Given the description of an element on the screen output the (x, y) to click on. 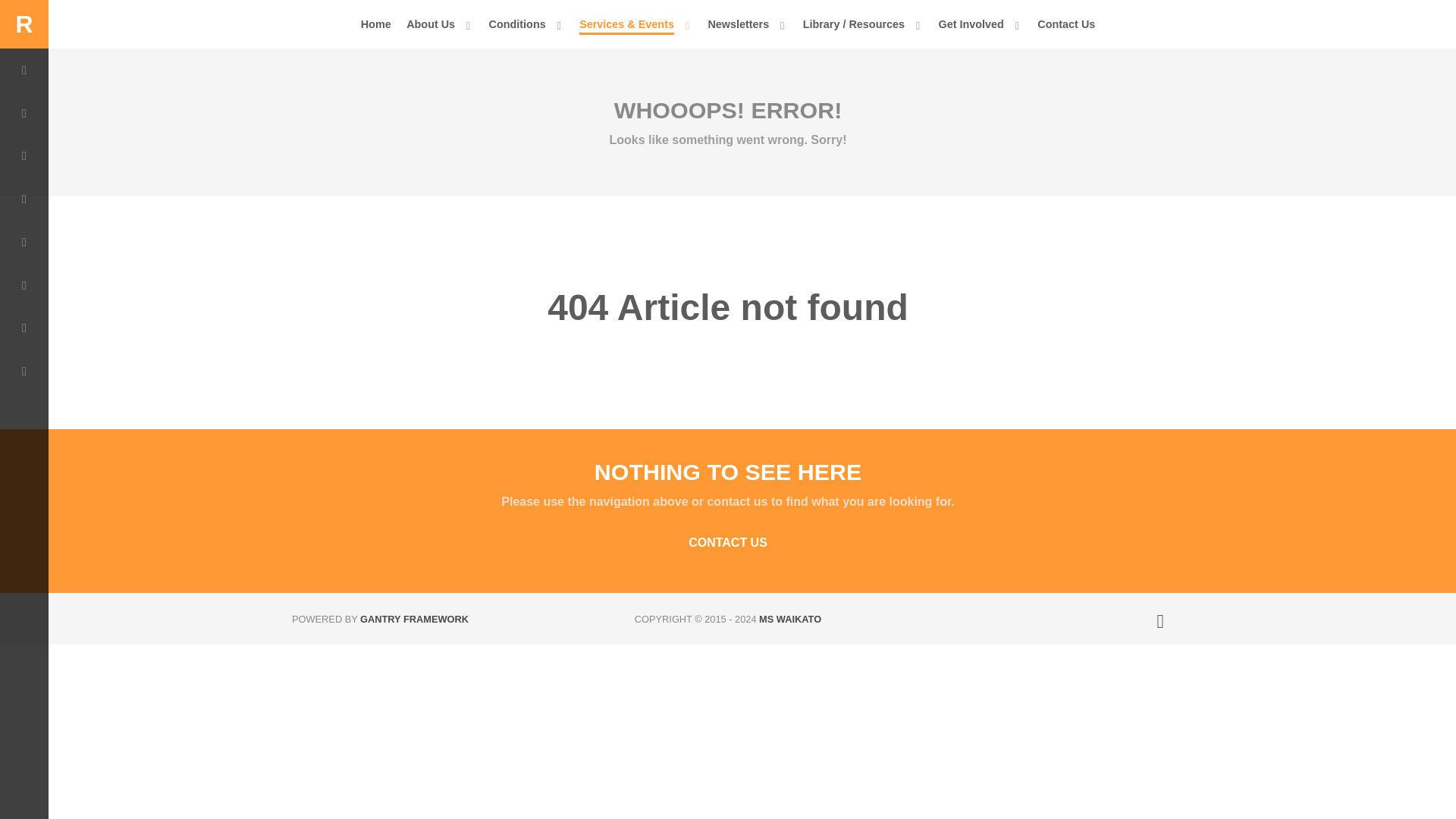
Home (376, 24)
Contact Us (1065, 24)
Gantry Framework (413, 618)
R (24, 24)
GANTRY FRAMEWORK (413, 618)
MS Waikato (789, 618)
Conditions (526, 24)
Get Involved (979, 24)
MS WAIKATO (789, 618)
R (24, 24)
CONTACT US (727, 542)
NOTHING TO SEE HERE (727, 471)
About Us (439, 24)
Newsletters (747, 24)
